Given the description of an element on the screen output the (x, y) to click on. 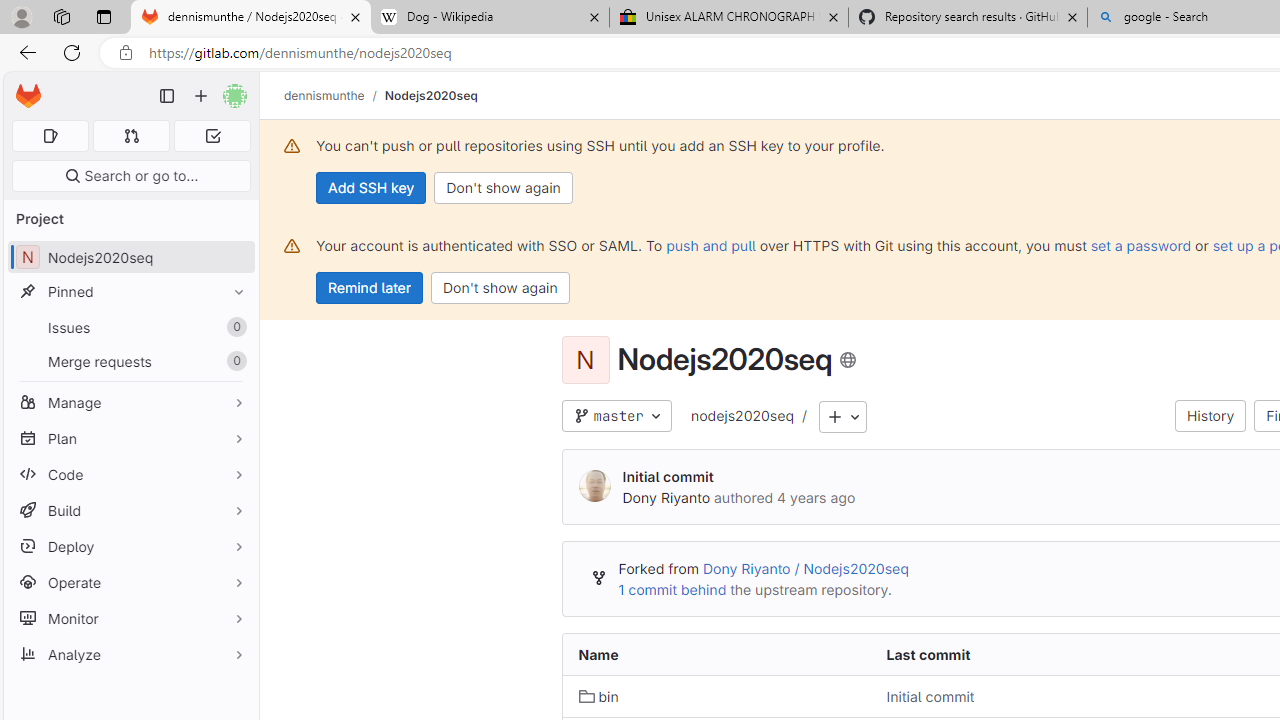
1 commit behind (672, 590)
dennismunthe/ (334, 95)
Add SSH key (371, 187)
Unpin Issues (234, 327)
Operate (130, 582)
Dony Riyanto's avatar (594, 487)
Build (130, 510)
Skip to main content (23, 87)
Class: s16 gl-alert-icon gl-alert-icon-no-title (291, 246)
Issues0 (130, 327)
Manage (130, 402)
